Given the description of an element on the screen output the (x, y) to click on. 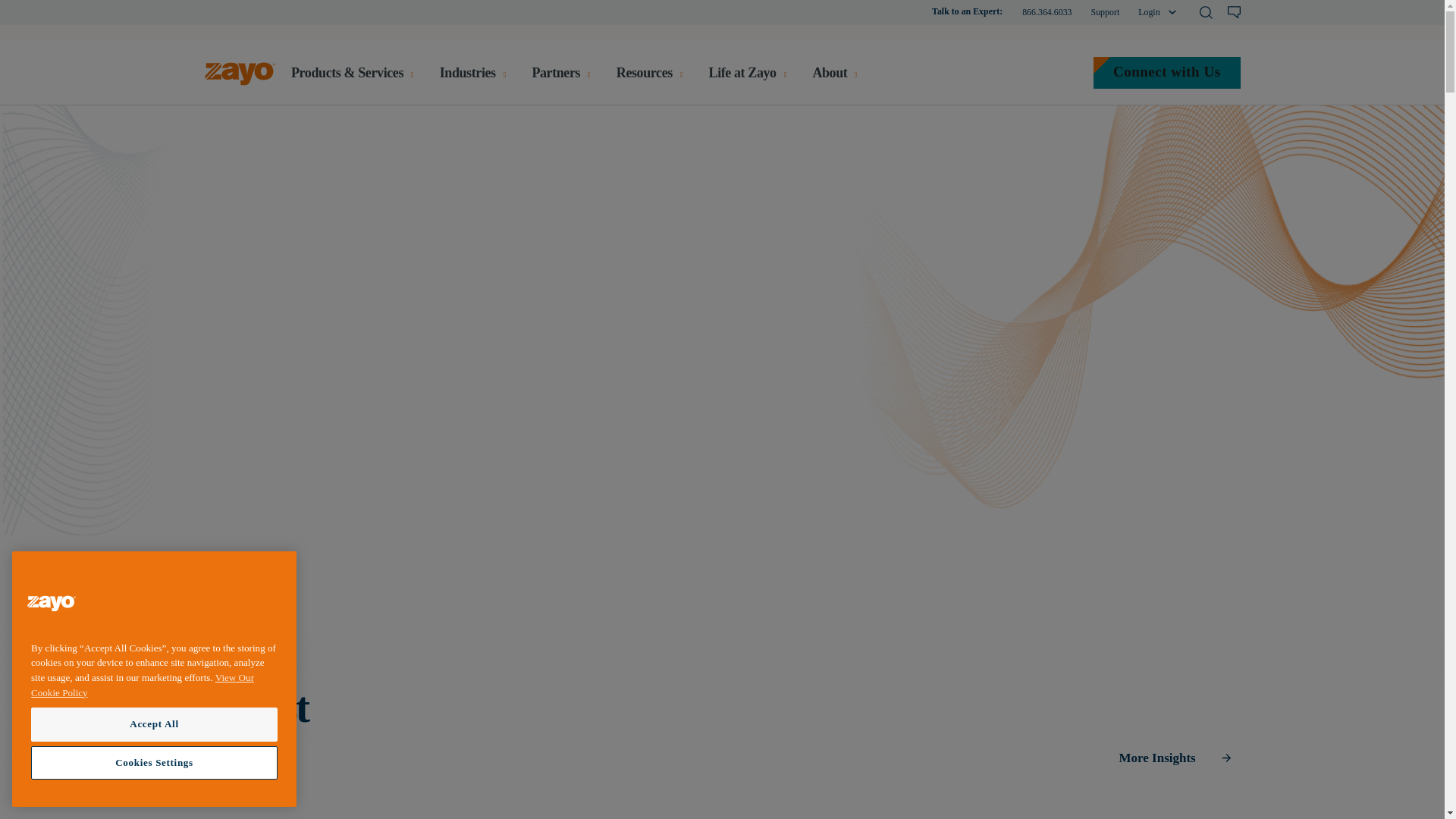
Contact Support (1104, 12)
Login Options (1148, 12)
Zayo Group (51, 604)
Call 866.364.6033 (1046, 12)
Zayo Logo (240, 76)
